Given the description of an element on the screen output the (x, y) to click on. 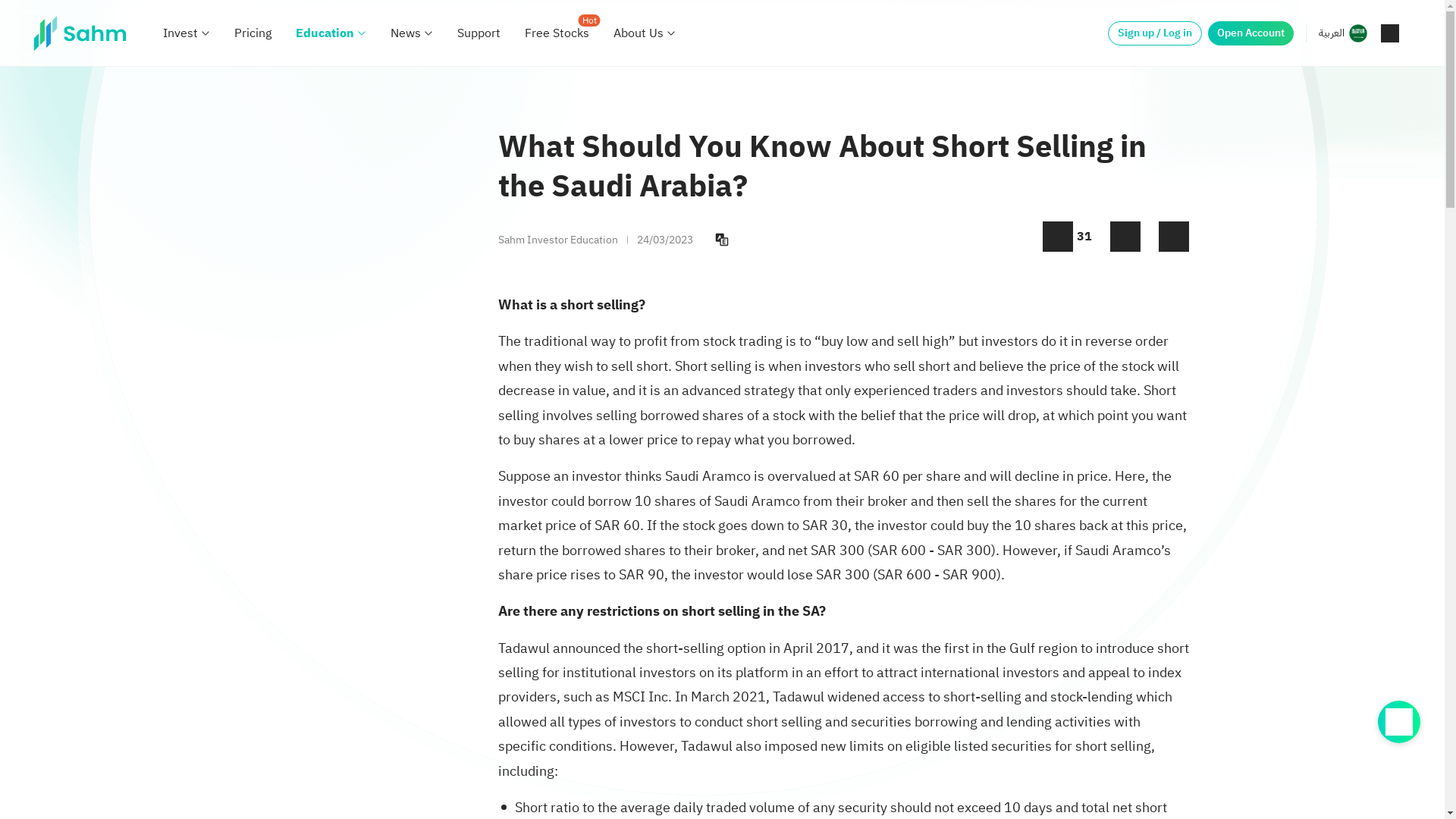
Free Stocks (556, 33)
News (405, 33)
About Us (637, 33)
Support (478, 33)
Education (324, 33)
Pricing (252, 33)
Support (478, 33)
Pricing (252, 33)
Invest (180, 33)
Open Account (1251, 33)
News (405, 33)
Education (324, 33)
Invest (180, 33)
